Given the description of an element on the screen output the (x, y) to click on. 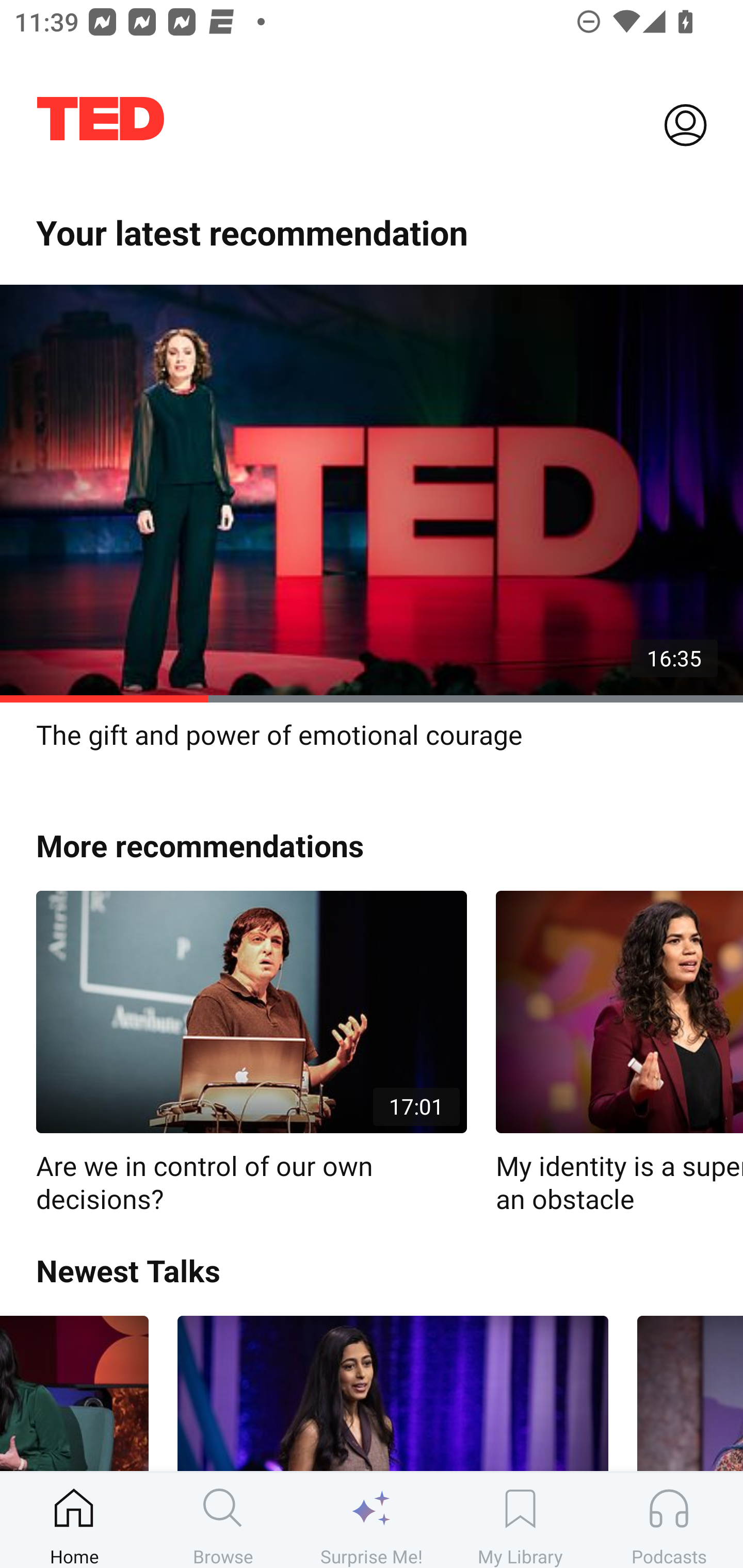
17:01 Are we in control of our own decisions? (251, 1053)
My identity is a superpower -- not an obstacle (619, 1053)
Home (74, 1520)
Browse (222, 1520)
Surprise Me! (371, 1520)
My Library (519, 1520)
Podcasts (668, 1520)
